Given the description of an element on the screen output the (x, y) to click on. 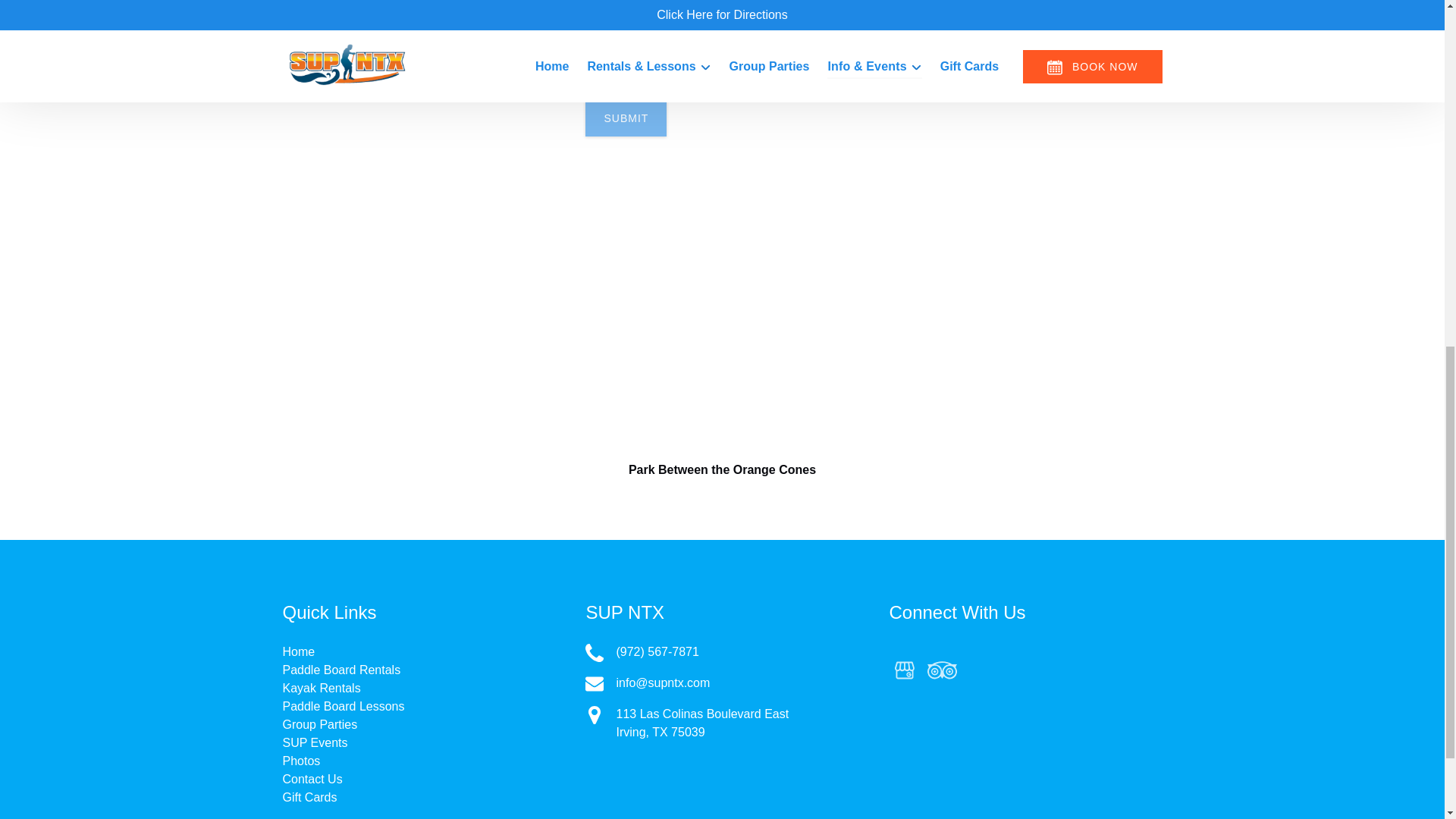
Contact Us (312, 779)
Kayak Rentals (320, 687)
Photos (301, 760)
Home (298, 651)
Group Parties (319, 724)
Visit our TripAdvisor (941, 669)
Submit (625, 117)
Phone (594, 652)
SUP Events (314, 742)
Map Marker (594, 714)
